Given the description of an element on the screen output the (x, y) to click on. 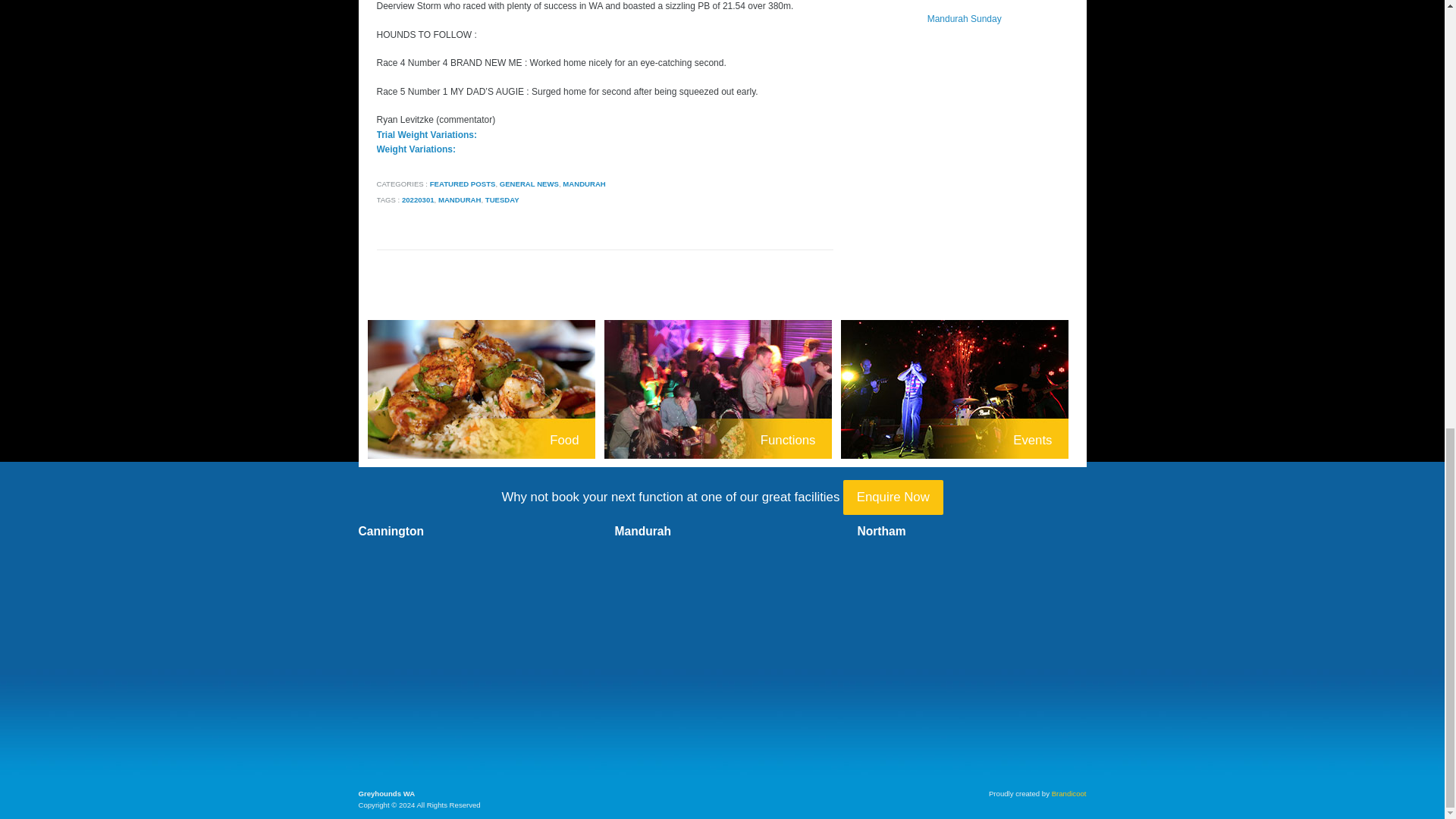
Special Events - Greyhounds WA (958, 390)
Weight Variations: (414, 149)
TUESDAY (501, 199)
Trial Weight Variations: (425, 134)
GENERAL NEWS (529, 183)
MANDURAH (583, 183)
FEATURED POSTS (462, 183)
MANDURAH (459, 199)
20220301 (417, 199)
Contact (893, 497)
